Given the description of an element on the screen output the (x, y) to click on. 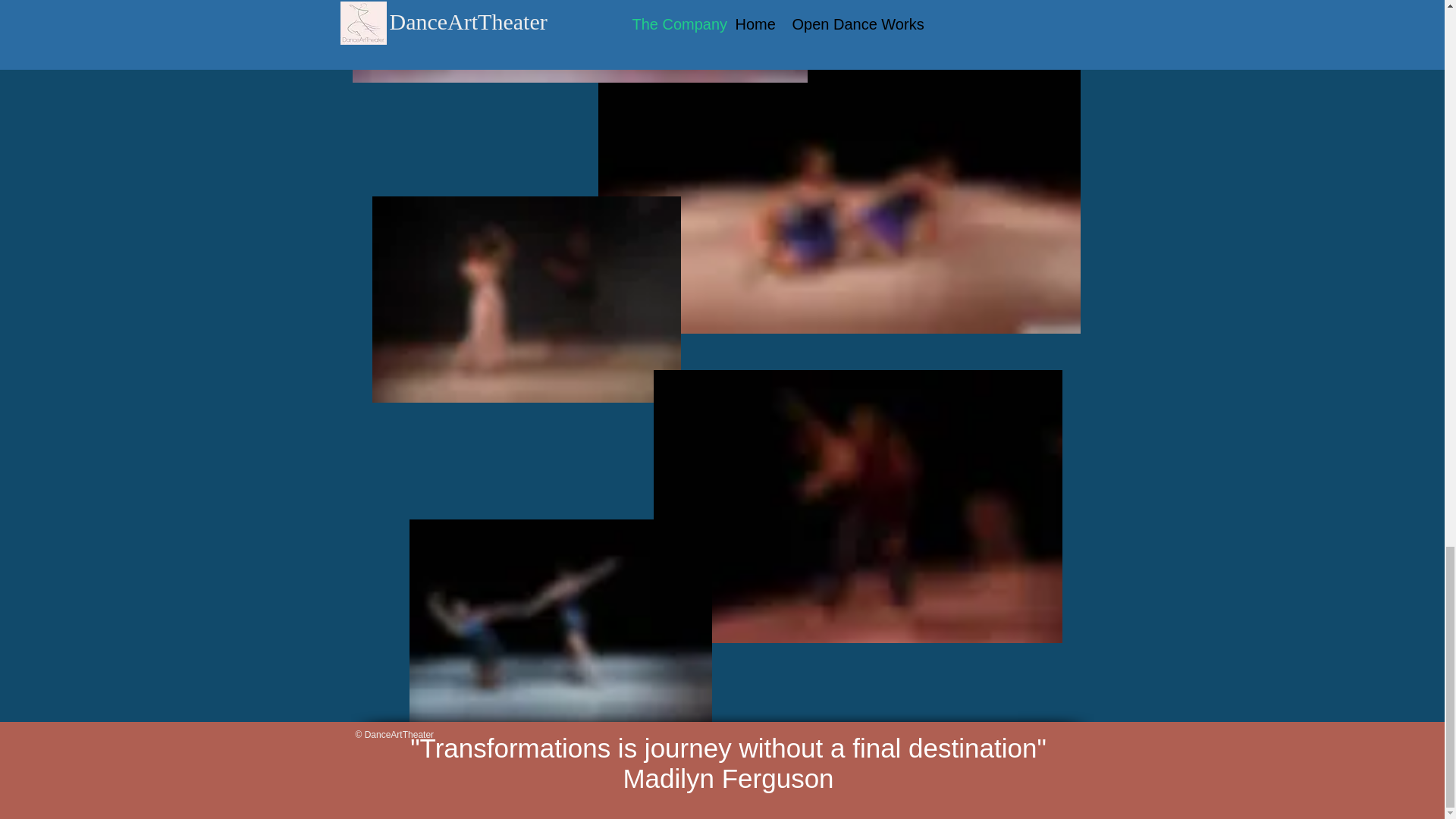
dat6.jpg (579, 41)
